Given the description of an element on the screen output the (x, y) to click on. 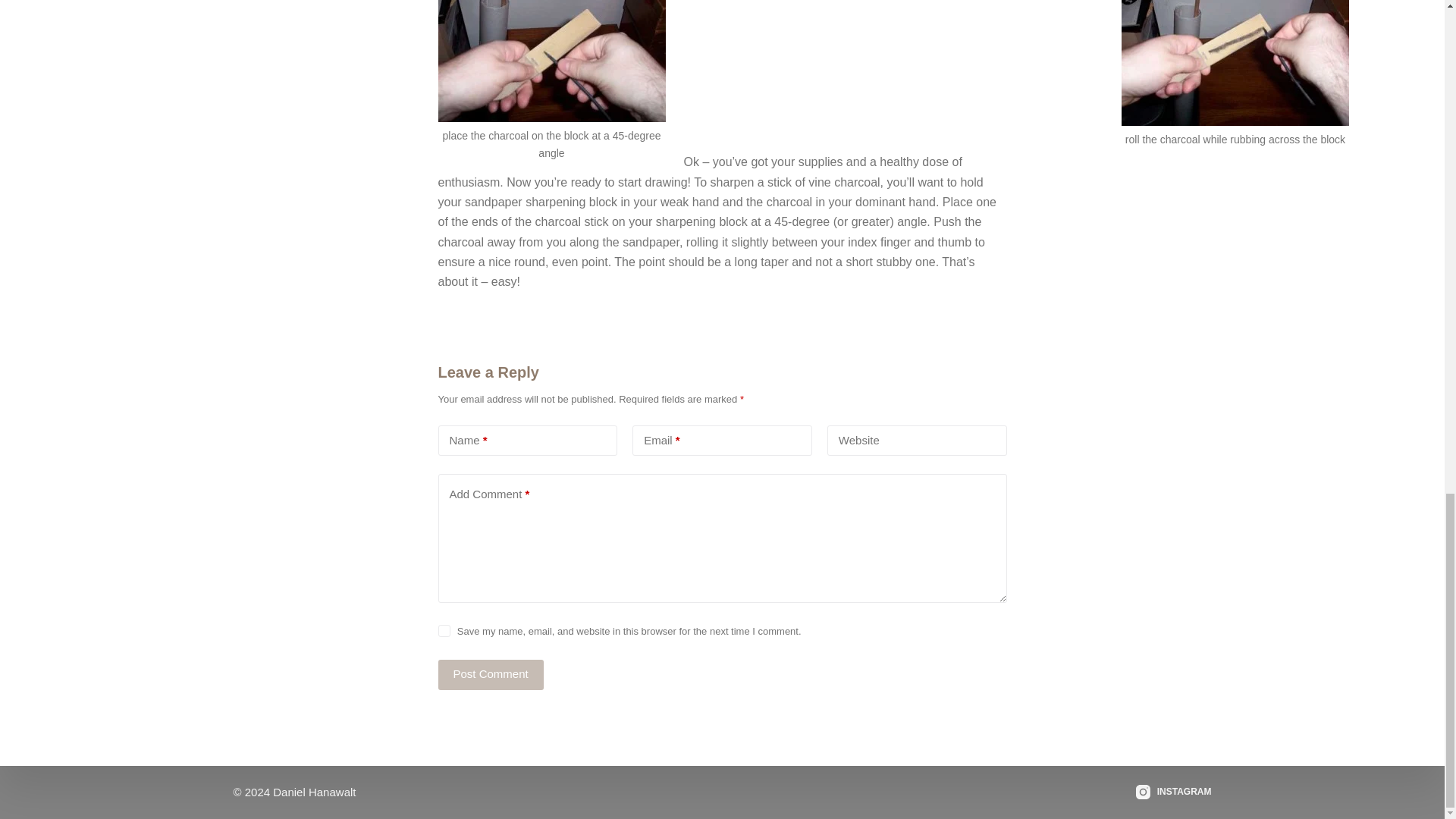
Post Comment (490, 675)
yes (443, 630)
sharpening-charcoal-1 (551, 61)
sharpening-charcoal-2 (1235, 63)
